Given the description of an element on the screen output the (x, y) to click on. 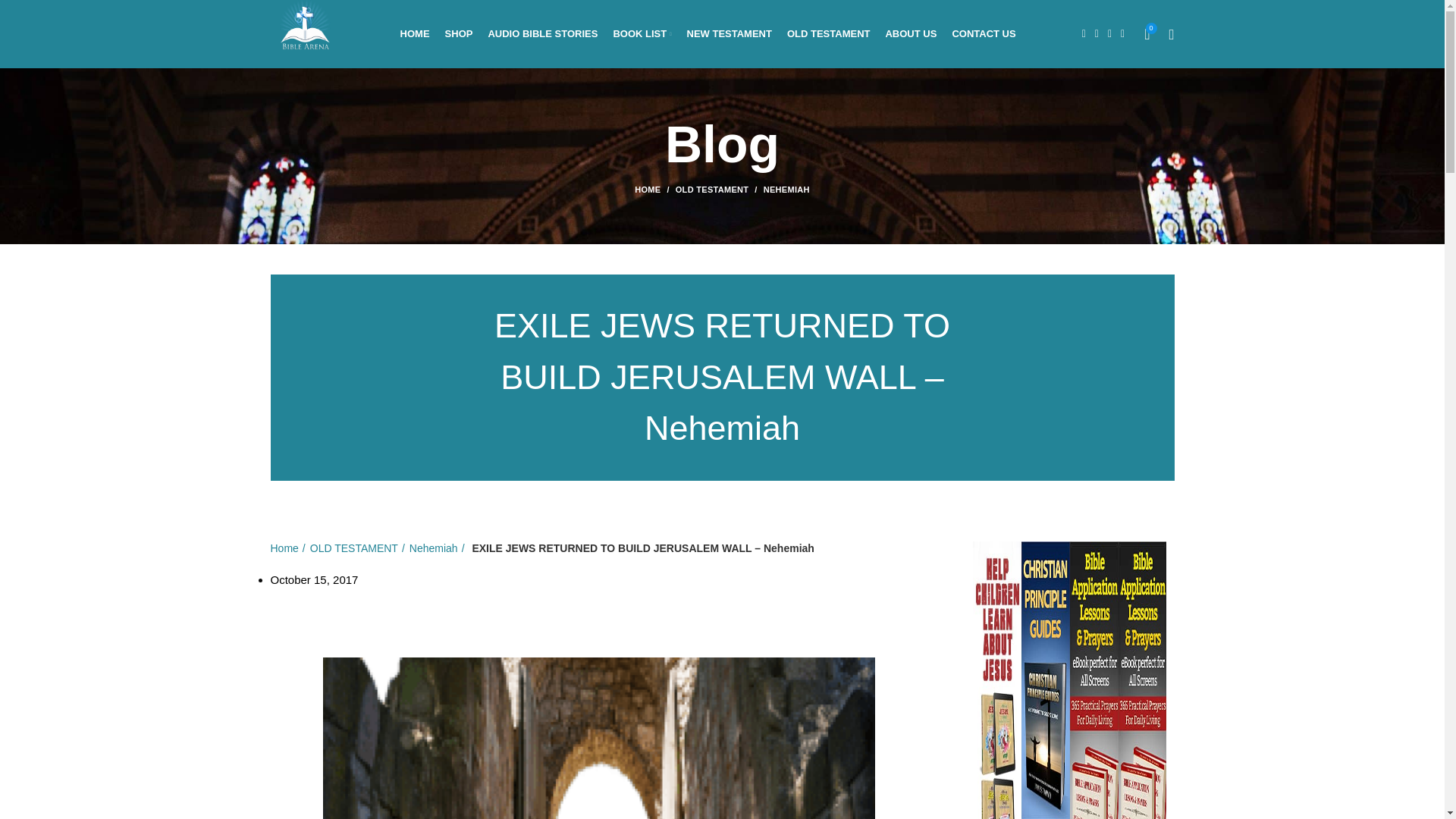
HOME (415, 33)
BOOK LIST (641, 33)
AUDIO BIBLE STORIES (542, 33)
SHOP (459, 33)
